Given the description of an element on the screen output the (x, y) to click on. 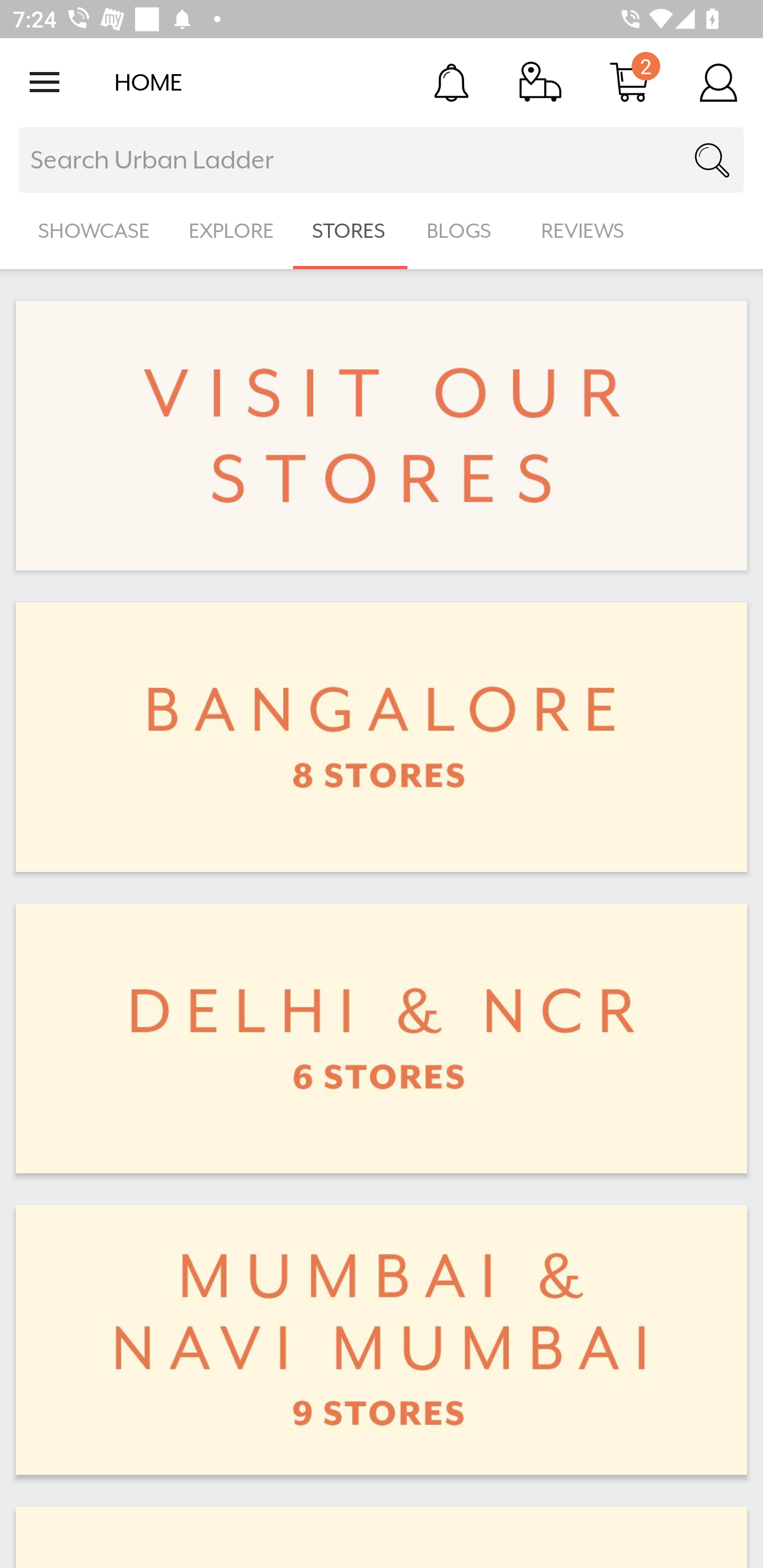
Open navigation drawer (44, 82)
Notification (450, 81)
Track Order (540, 81)
Cart (629, 81)
Account Details (718, 81)
Search Urban Ladder  (381, 159)
SHOWCASE (94, 230)
EXPLORE (230, 230)
STORES (349, 230)
BLOGS (464, 230)
REVIEWS (582, 230)
